Given the description of an element on the screen output the (x, y) to click on. 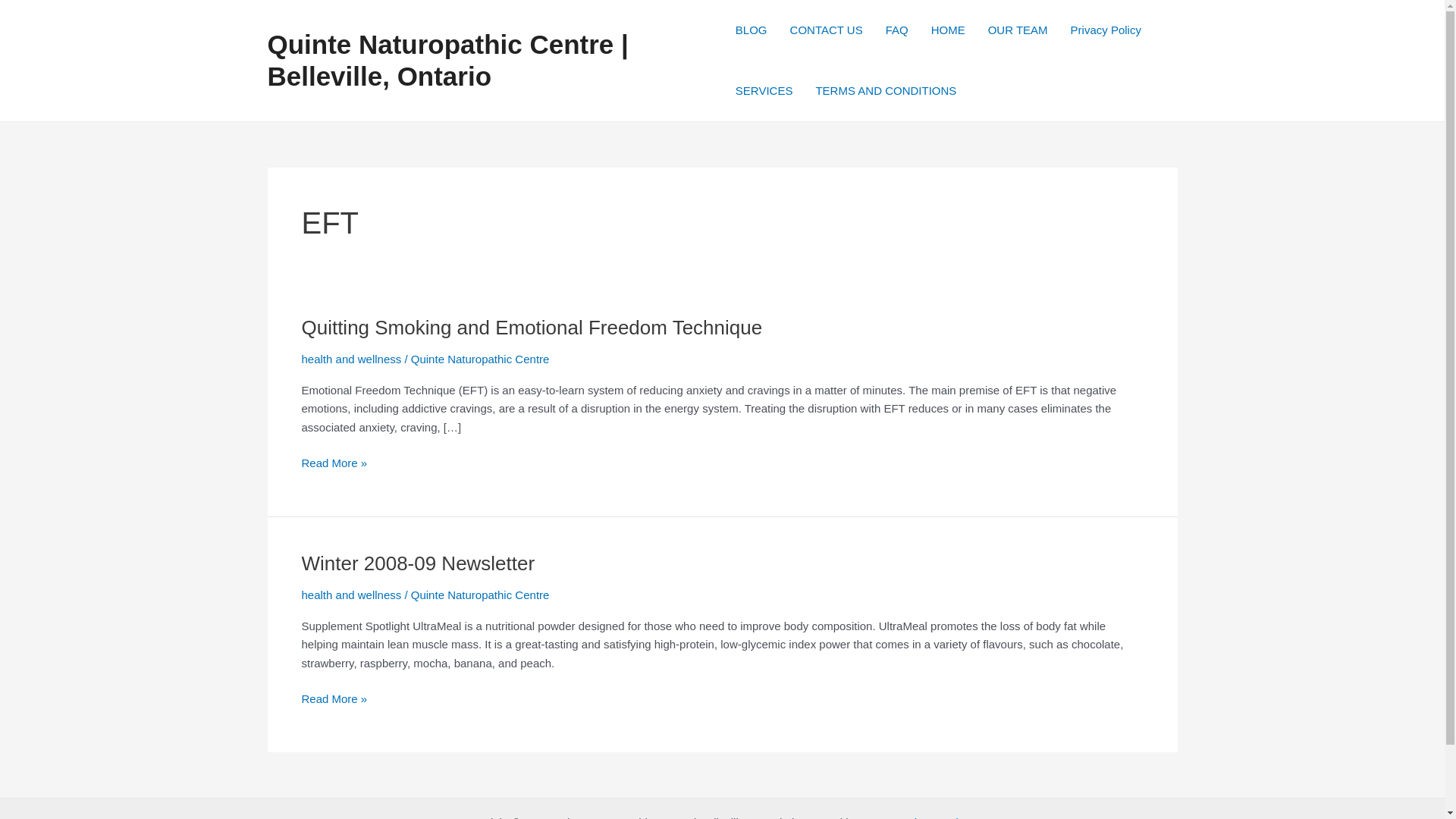
Quinte Naturopathic Centre (480, 358)
CONTACT US (826, 30)
SERVICES (764, 90)
health and wellness (351, 594)
OUR TEAM (1017, 30)
health and wellness (351, 358)
Privacy Policy (1106, 30)
BLOG (750, 30)
TERMS AND CONDITIONS (885, 90)
HOME (948, 30)
Astra WordPress Theme (922, 817)
Quinte Naturopathic Centre (480, 594)
View all posts by Quinte Naturopathic Centre (480, 358)
Winter 2008-09 Newsletter (418, 563)
View all posts by Quinte Naturopathic Centre (480, 594)
